Given the description of an element on the screen output the (x, y) to click on. 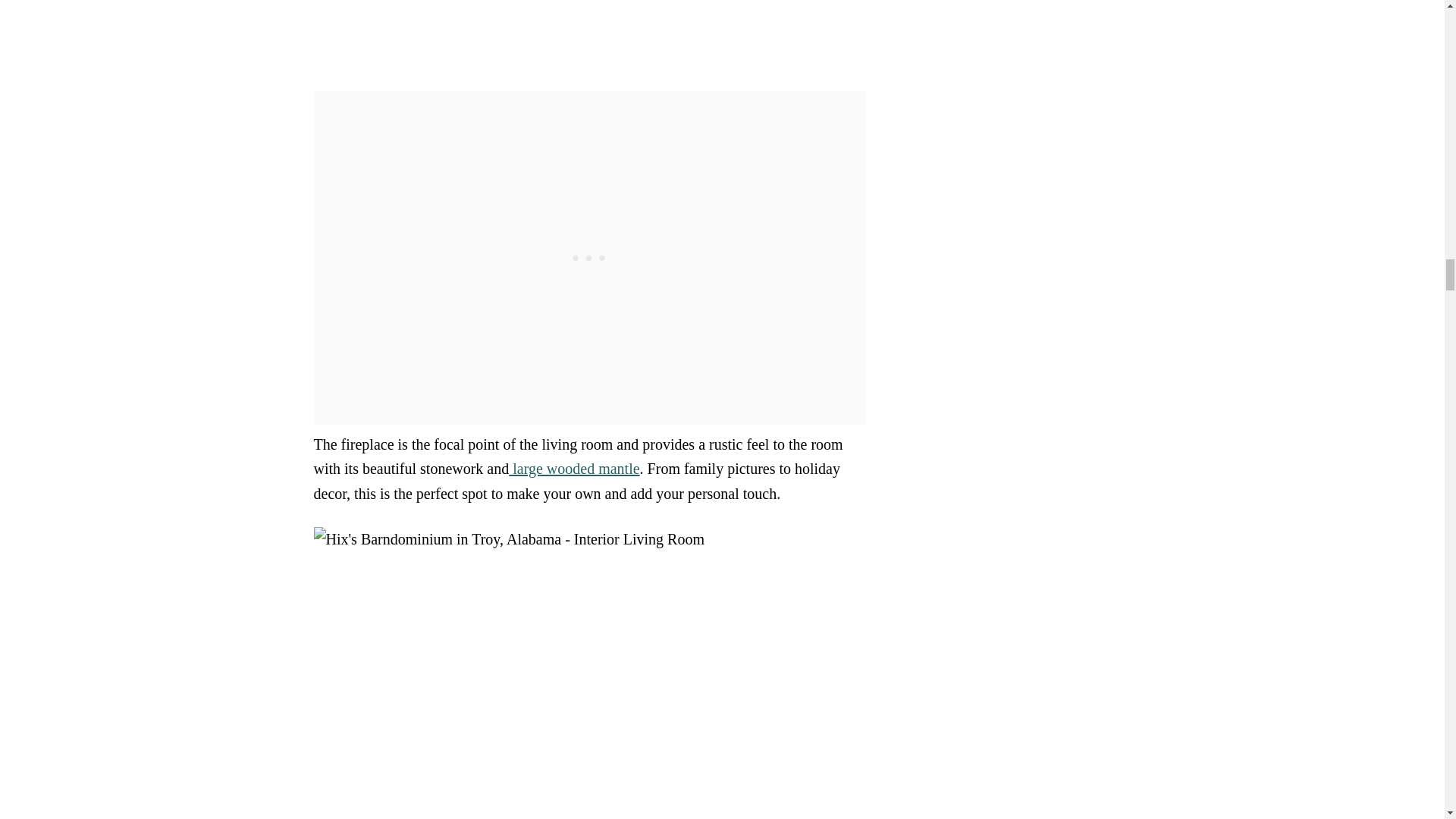
large wooded mantle (573, 468)
